Given the description of an element on the screen output the (x, y) to click on. 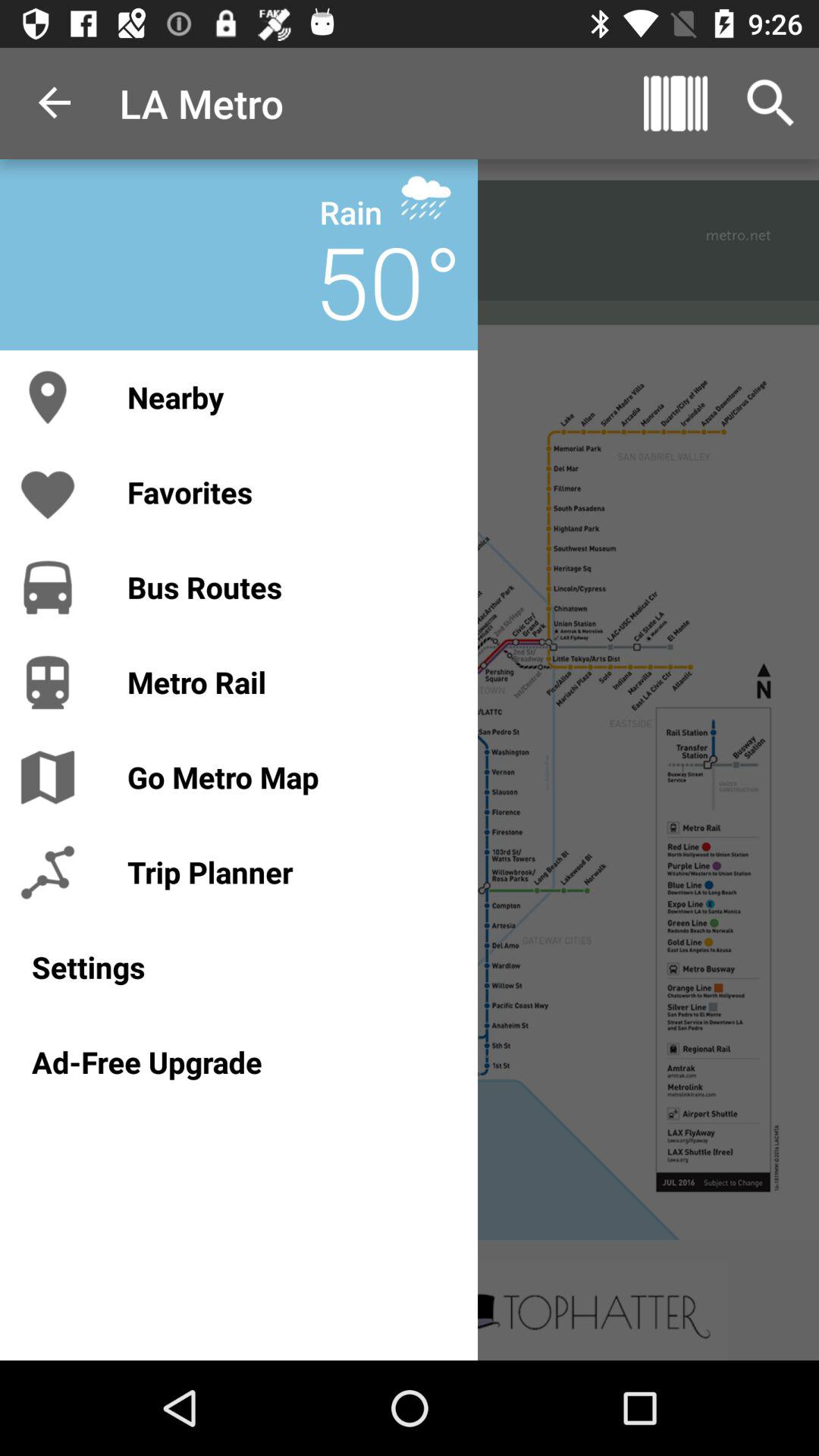
choose the rain (350, 211)
